Given the description of an element on the screen output the (x, y) to click on. 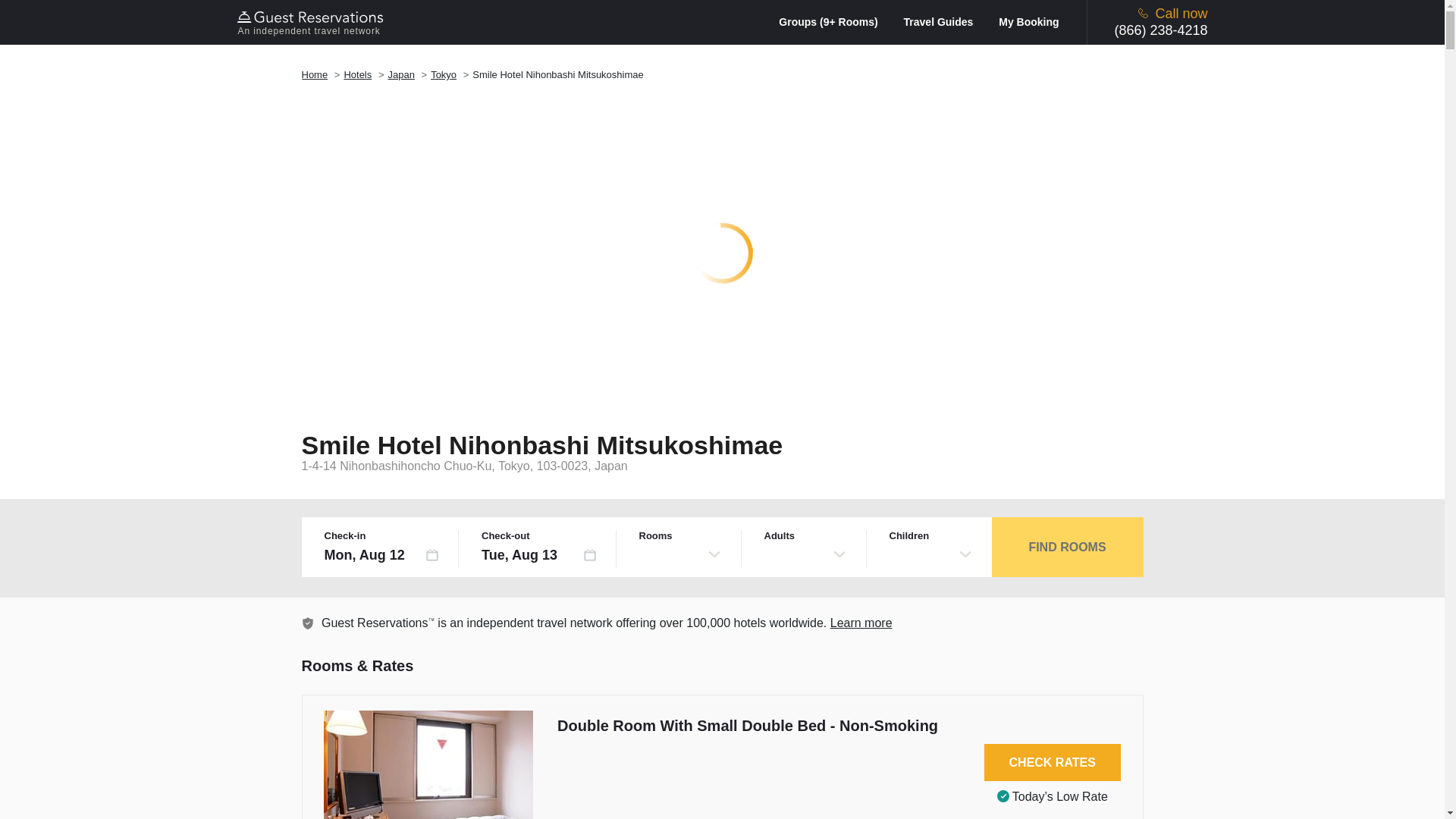
Hotels (357, 74)
Guest Reservations (311, 22)
Learn more (860, 622)
Travel Guides (949, 21)
Mon, Aug 12 (381, 554)
Tue, Aug 13 (538, 554)
call (1143, 13)
An independent travel network (311, 22)
Japan (400, 74)
Travel Guides (949, 21)
